Given the description of an element on the screen output the (x, y) to click on. 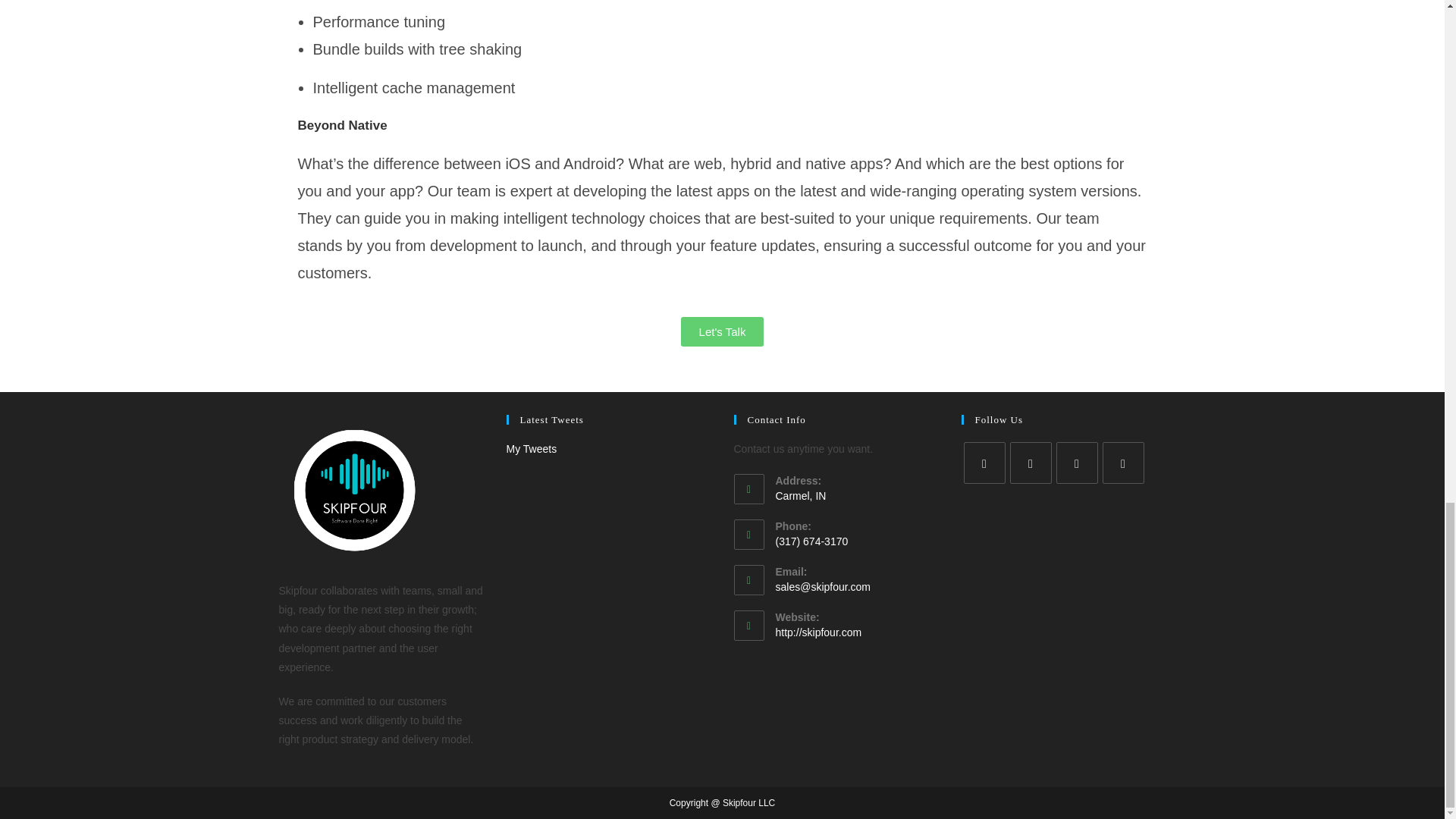
Let's Talk (722, 331)
Carmel, IN (855, 495)
My Tweets (531, 449)
